Given the description of an element on the screen output the (x, y) to click on. 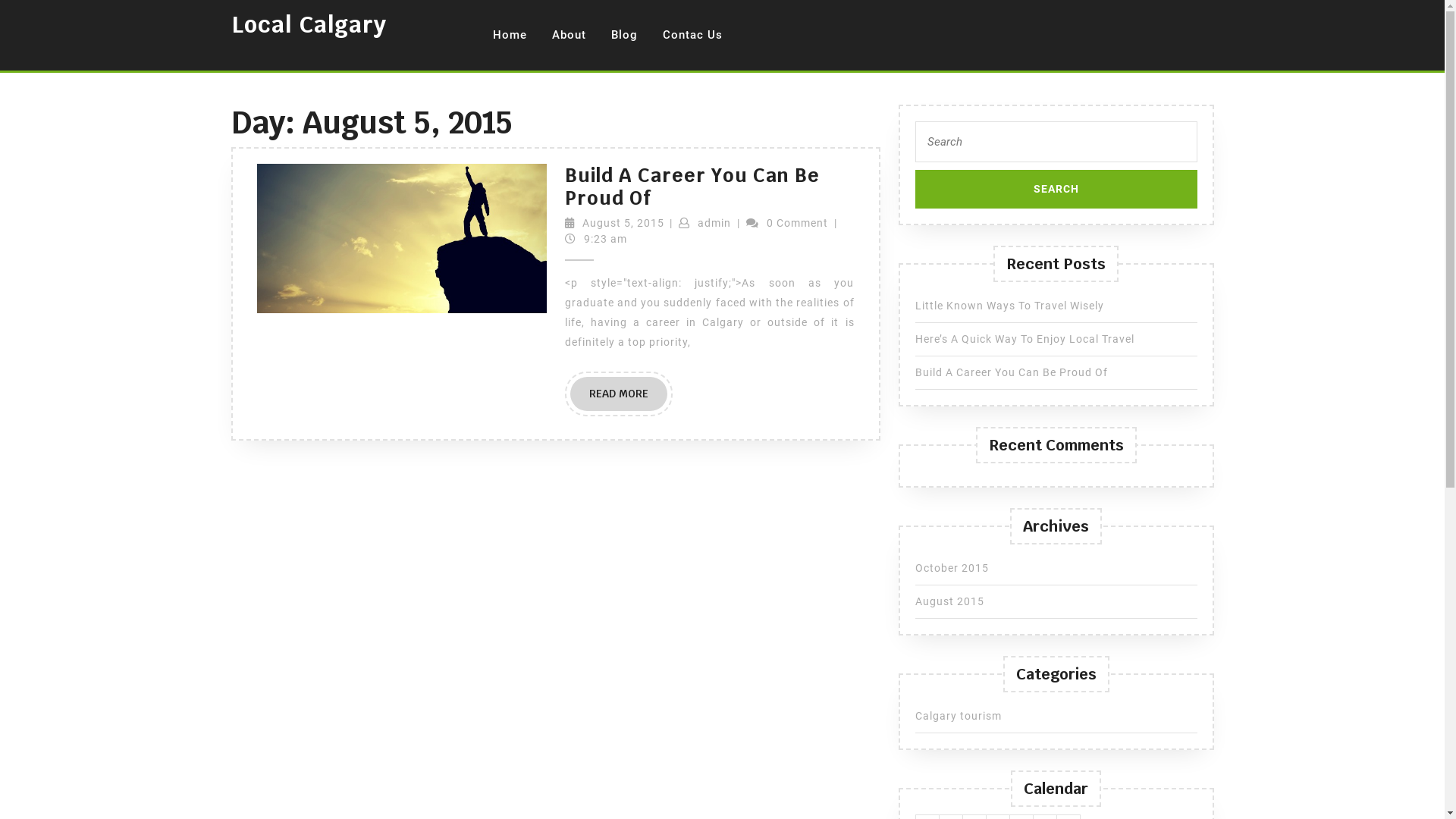
admin
admin Element type: text (714, 222)
Search Element type: text (1055, 188)
About Element type: text (567, 34)
Home Element type: text (508, 34)
Contac Us Element type: text (691, 34)
August 2015 Element type: text (948, 601)
Build A Career You Can Be Proud Of Element type: text (1010, 372)
Local Calgary Element type: text (307, 24)
Blog Element type: text (623, 34)
October 2015 Element type: text (951, 567)
August 5, 2015
August 5, 2015 Element type: text (623, 222)
READ MORE
READ MORE Element type: text (618, 393)
Little Known Ways To Travel Wisely Element type: text (1008, 305)
Calgary tourism Element type: text (957, 715)
